Given the description of an element on the screen output the (x, y) to click on. 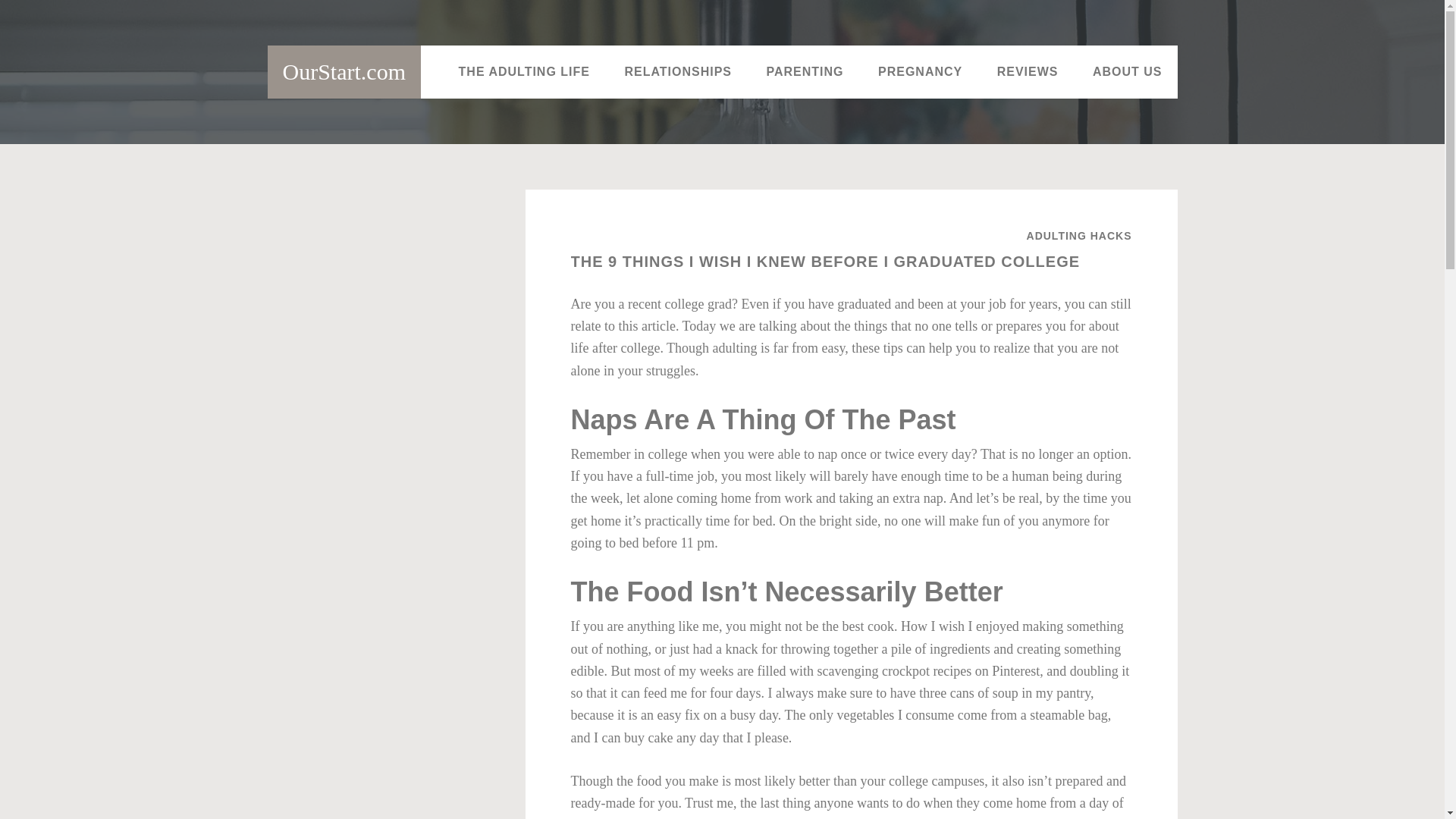
RELATIONSHIPS (677, 71)
OurStart.com (343, 71)
REVIEWS (1027, 71)
ADULTING HACKS (1079, 235)
ABOUT US (1127, 71)
PREGNANCY (919, 71)
THE ADULTING LIFE (524, 71)
PARENTING (805, 71)
